Given the description of an element on the screen output the (x, y) to click on. 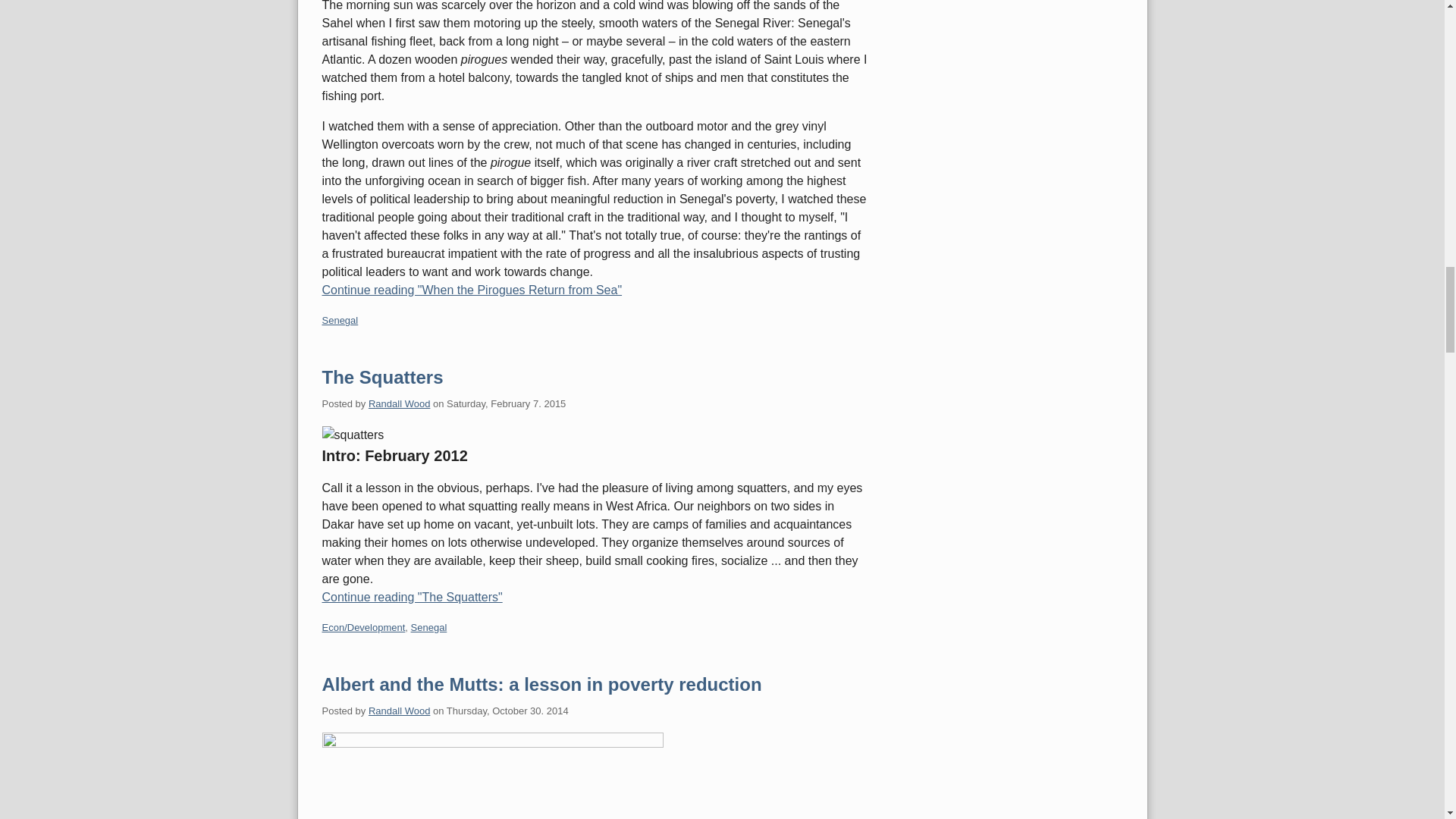
Senegal (339, 319)
Senegal (428, 627)
Randall Wood (398, 403)
Albert and the Mutts: a lesson in poverty reduction (541, 684)
Randall Wood (398, 710)
Continue reading "When the Pirogues Return from Sea" (594, 290)
Continue reading "The Squatters" (594, 597)
The Squatters (381, 376)
